Given the description of an element on the screen output the (x, y) to click on. 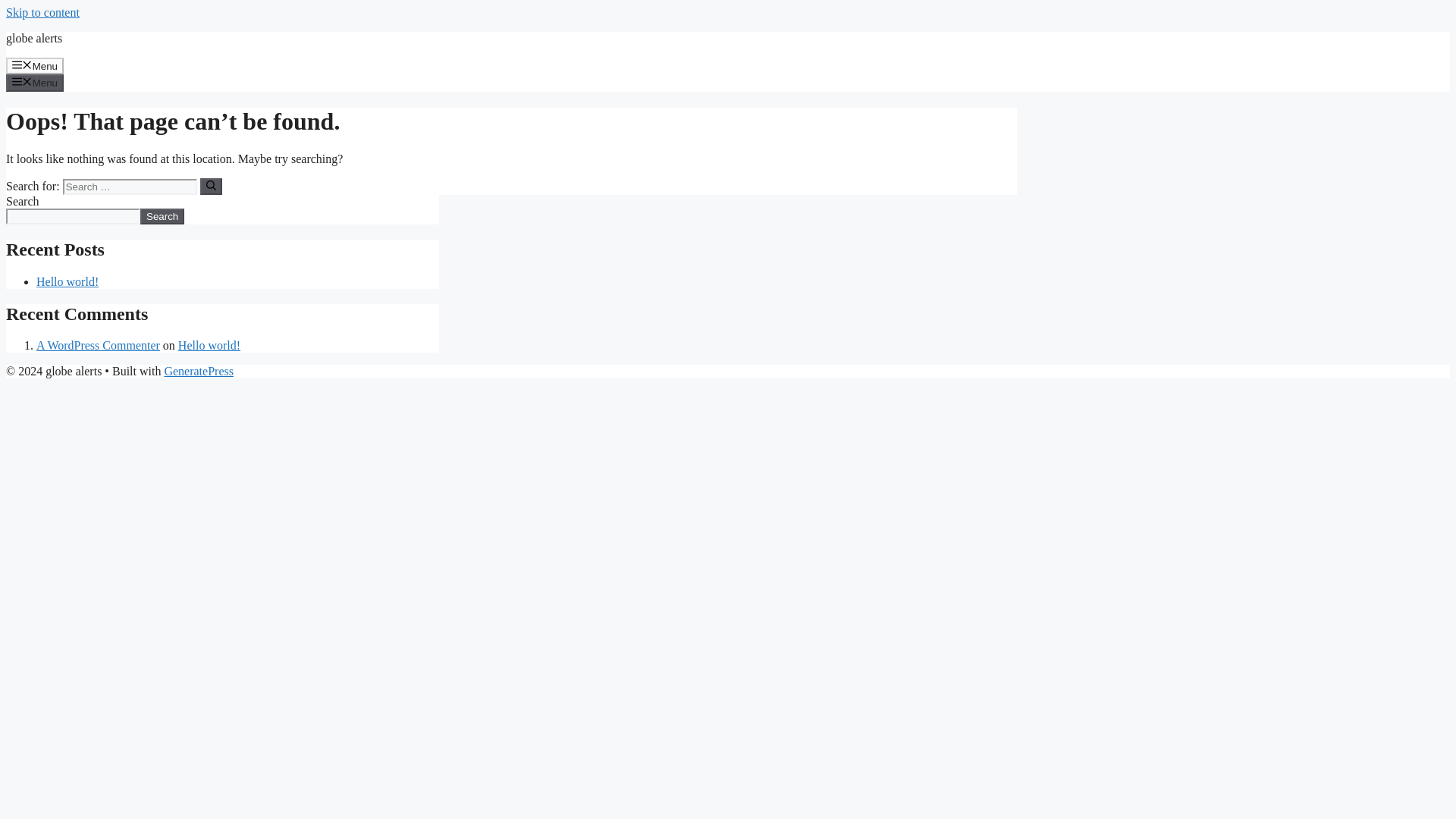
Hello world! (67, 281)
Search (161, 216)
A WordPress Commenter (98, 345)
globe alerts (33, 38)
Skip to content (42, 11)
Menu (34, 82)
Search for: (129, 186)
Skip to content (42, 11)
Menu (34, 65)
Hello world! (208, 345)
